Given the description of an element on the screen output the (x, y) to click on. 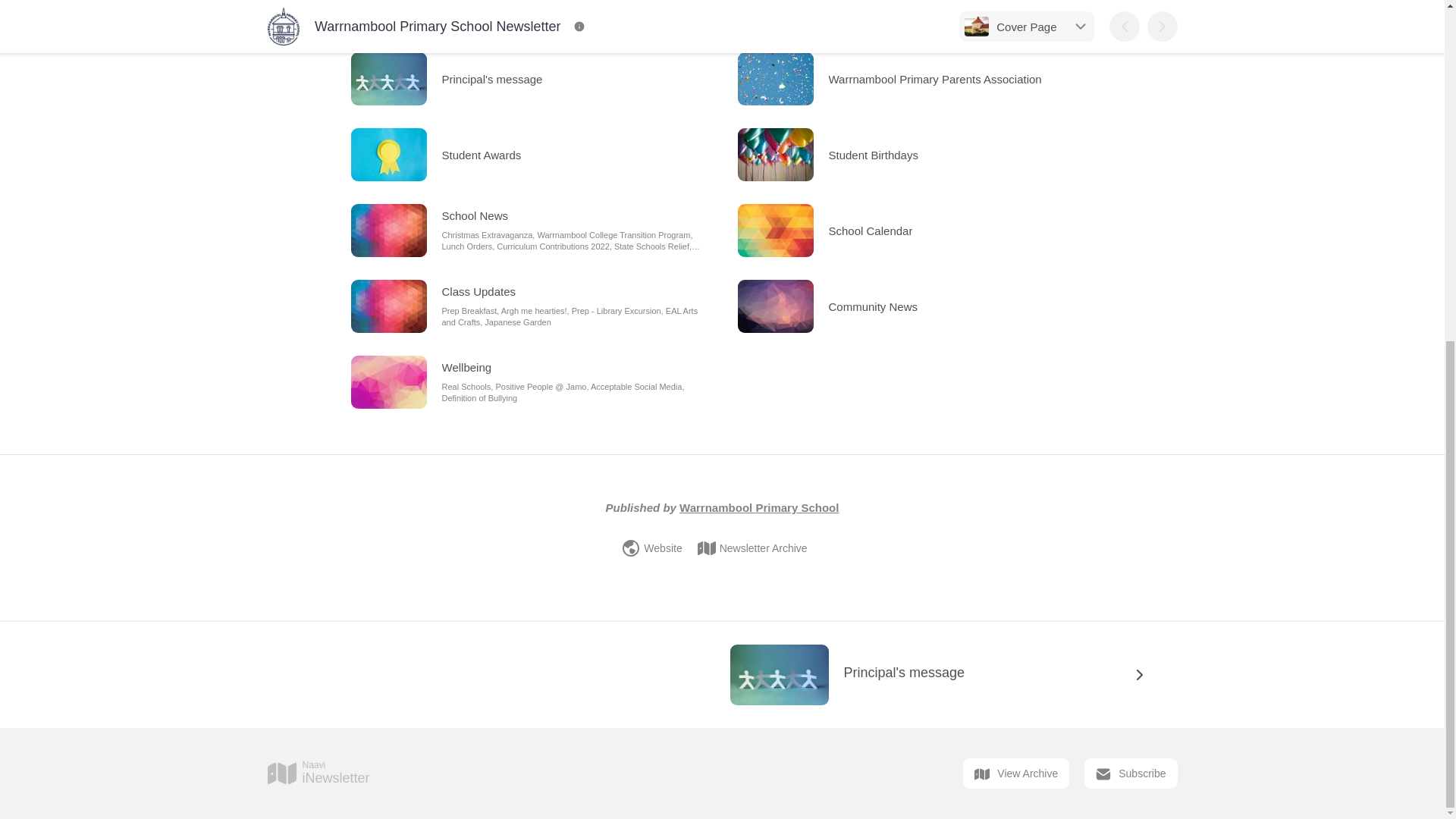
Student Awards (528, 154)
Website (651, 548)
View Archive (317, 773)
Principal's message (1015, 773)
Community News (949, 674)
Newsletter Archive (914, 305)
Subscribe (752, 548)
School Calendar (1130, 773)
